Given the description of an element on the screen output the (x, y) to click on. 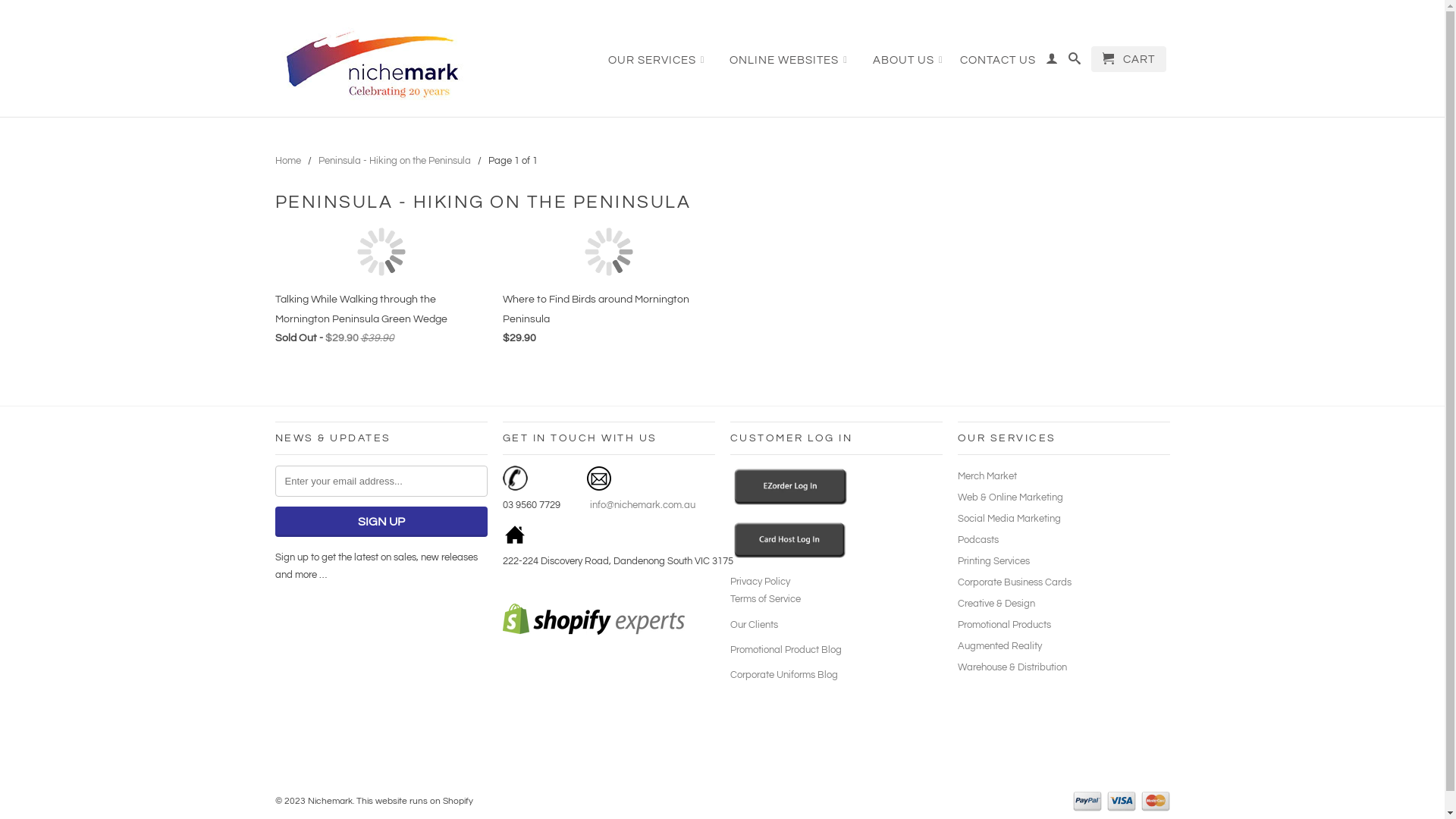
Printing Services Element type: text (993, 560)
Sign Up Element type: text (380, 521)
Home Element type: text (287, 160)
Promotional Product Blog Element type: text (784, 649)
Card Host log in Element type: hover (789, 555)
Social Media Marketing Element type: text (1008, 518)
Podcasts Element type: text (977, 539)
Peninsula - Hiking on the Peninsula Element type: text (394, 160)
Merch Market Element type: text (986, 475)
CONTACT US Element type: text (997, 64)
Terms of Service Element type: text (764, 598)
Nichemark Shopify Experts Element type: hover (593, 631)
Privacy Policy Element type: text (759, 581)
My Account  Element type: hover (1050, 62)
Creative & Design Element type: text (995, 603)
Nichemark Element type: hover (380, 60)
Augmented Reality Element type: text (999, 645)
Warehouse & Distribution Element type: text (1011, 667)
Where to Find Birds around Mornington Peninsula
$29.90 Element type: text (608, 290)
Corporate Uniforms Blog Element type: text (783, 674)
Web & Online Marketing Element type: text (1009, 497)
EZorder log in Element type: hover (789, 502)
info@nichemark.com.au Element type: text (640, 504)
This website runs on Shopify Element type: text (414, 801)
CART Element type: text (1127, 59)
Our Clients Element type: text (753, 624)
Search Element type: hover (1073, 62)
Corporate Business Cards Element type: text (1013, 582)
Promotional Products Element type: text (1003, 624)
